Given the description of an element on the screen output the (x, y) to click on. 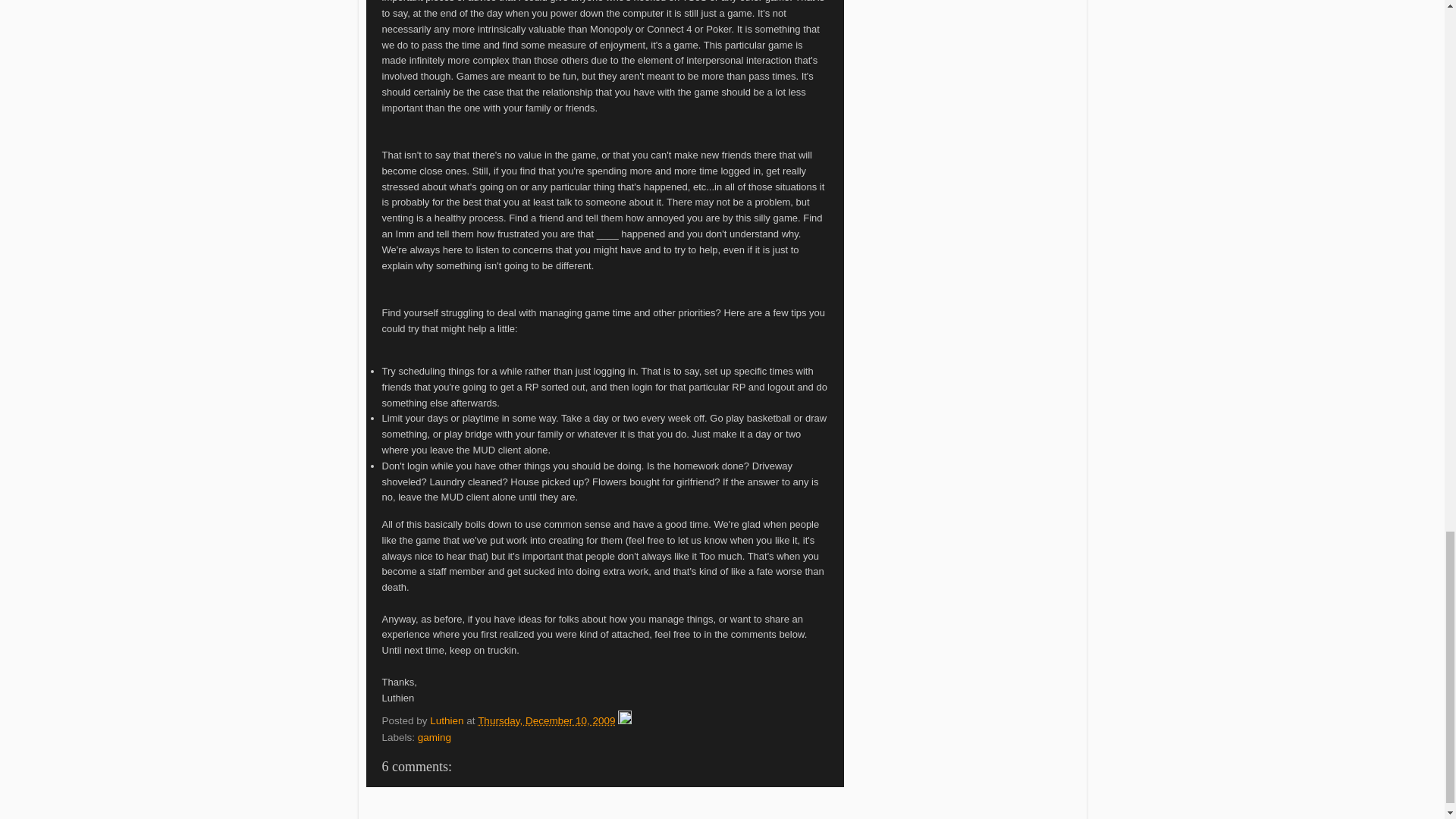
permanent link (545, 720)
author profile (447, 720)
Luthien (447, 720)
gaming (434, 737)
Thursday, December 10, 2009 (545, 720)
Edit Post (624, 720)
